Given the description of an element on the screen output the (x, y) to click on. 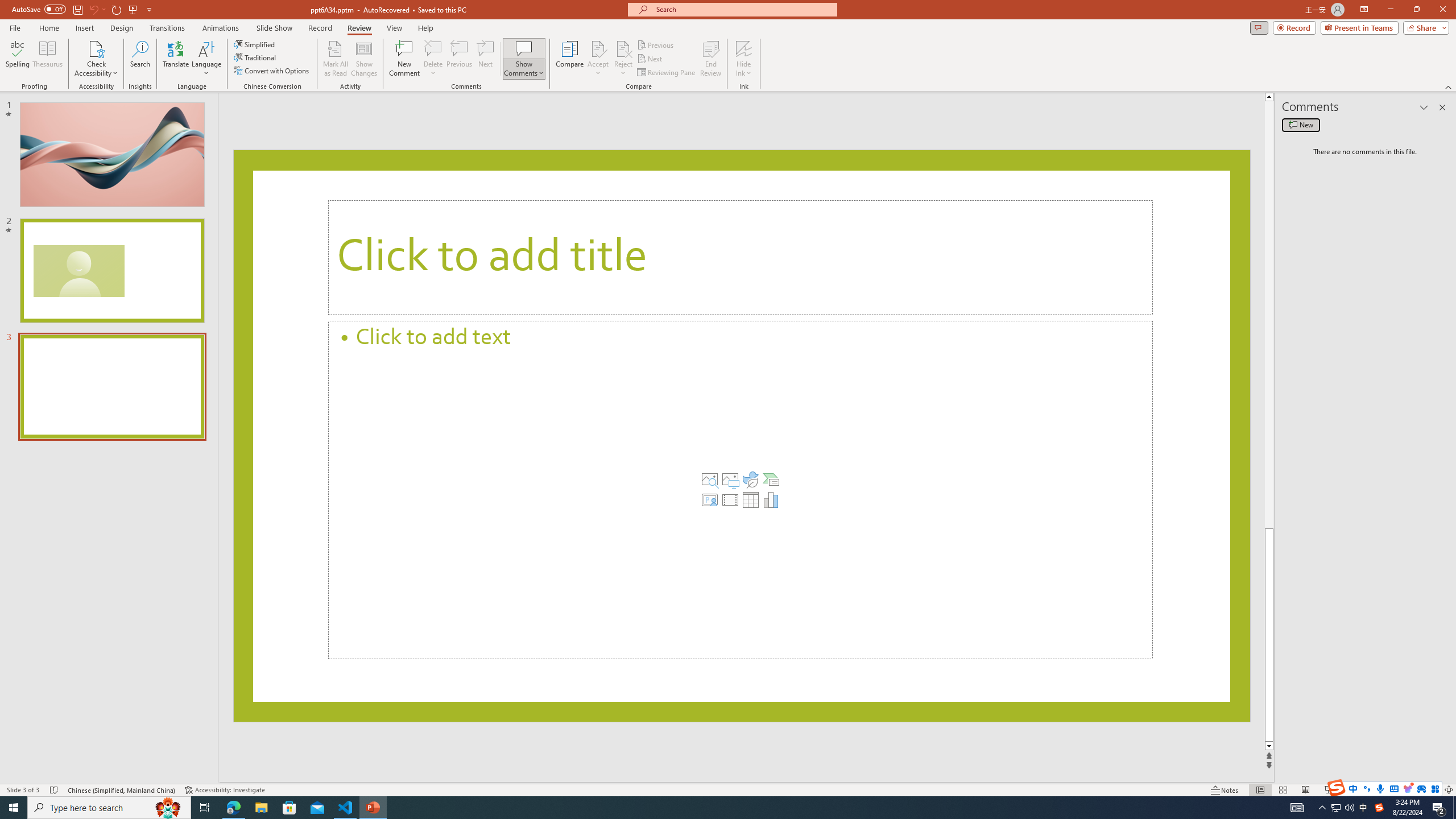
Zoom 140% (1430, 790)
Check Accessibility (95, 48)
Accept Change (598, 48)
New Comment (403, 58)
